Given the description of an element on the screen output the (x, y) to click on. 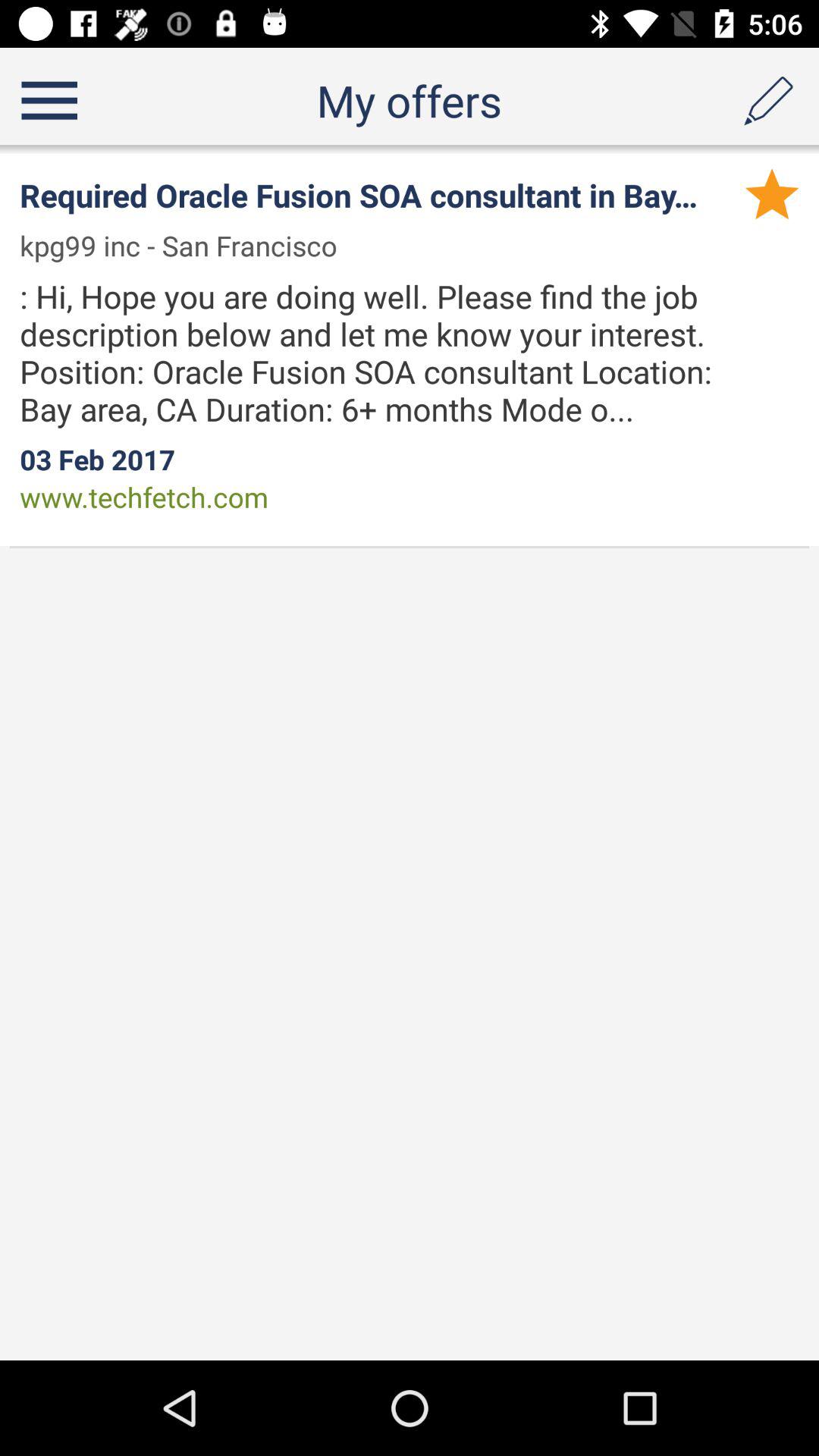
tap the item above hi hope you app (188, 245)
